Given the description of an element on the screen output the (x, y) to click on. 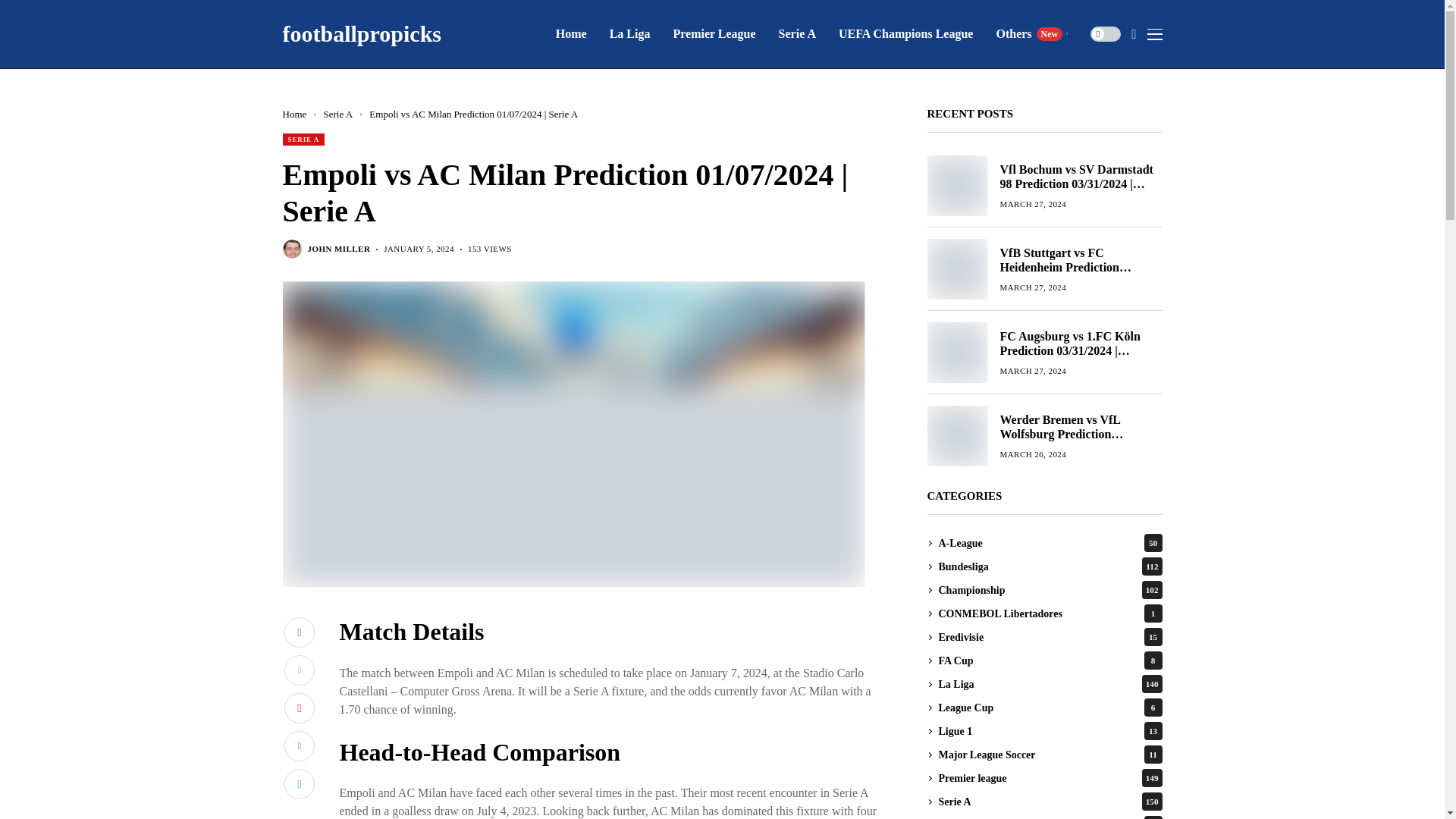
Premier League (1031, 33)
UEFA Champions League (713, 33)
footballpropicks (906, 33)
Posts by John Miller (361, 33)
